Given the description of an element on the screen output the (x, y) to click on. 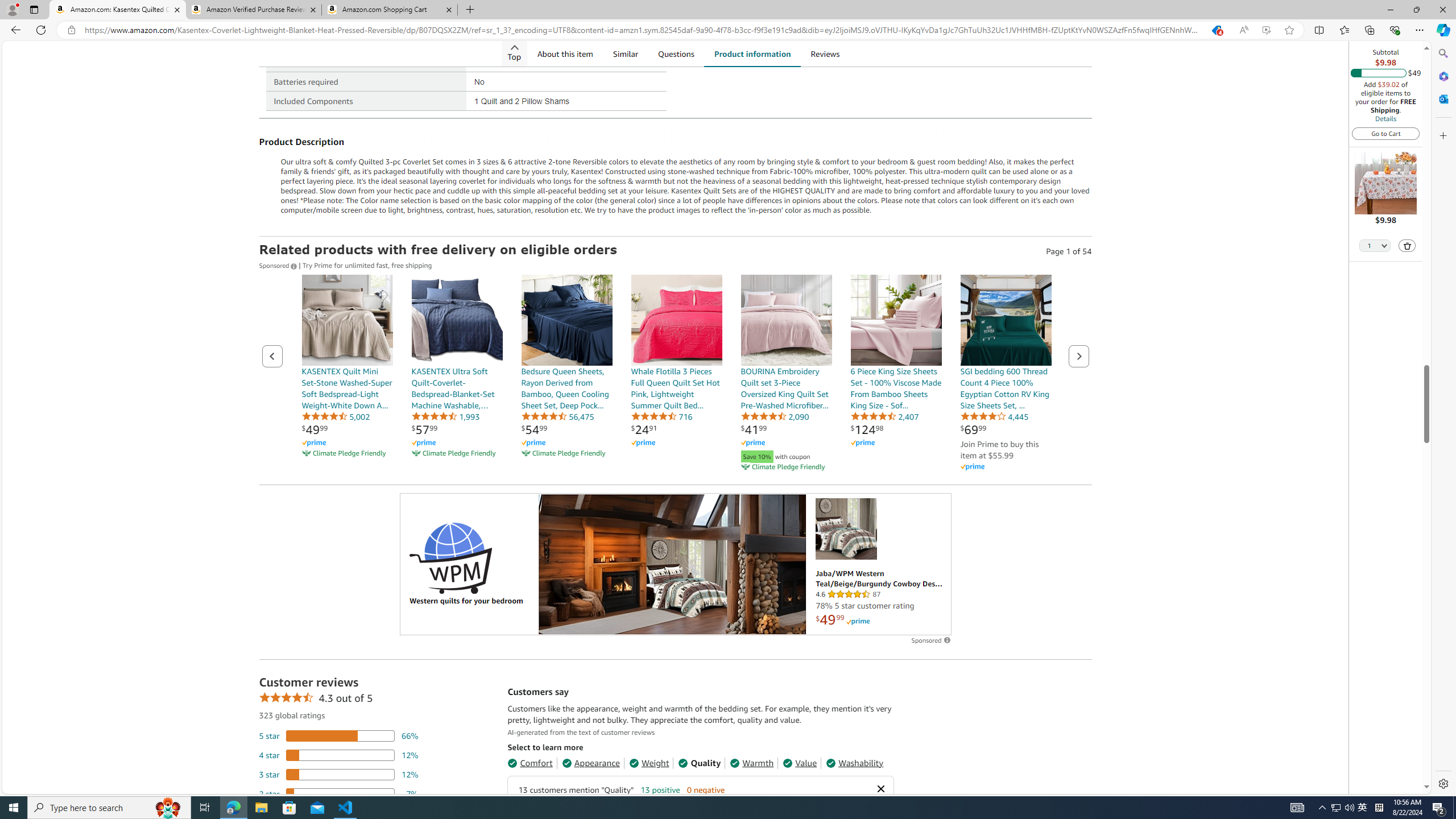
$124.98 (866, 429)
Similar (624, 53)
12 percent of reviews have 3 stars (339, 774)
12 percent of reviews have 4 stars (339, 754)
1,993 (445, 416)
56,475 (557, 416)
2,090 (775, 416)
$69.99 (973, 429)
Weight (648, 762)
